Given the description of an element on the screen output the (x, y) to click on. 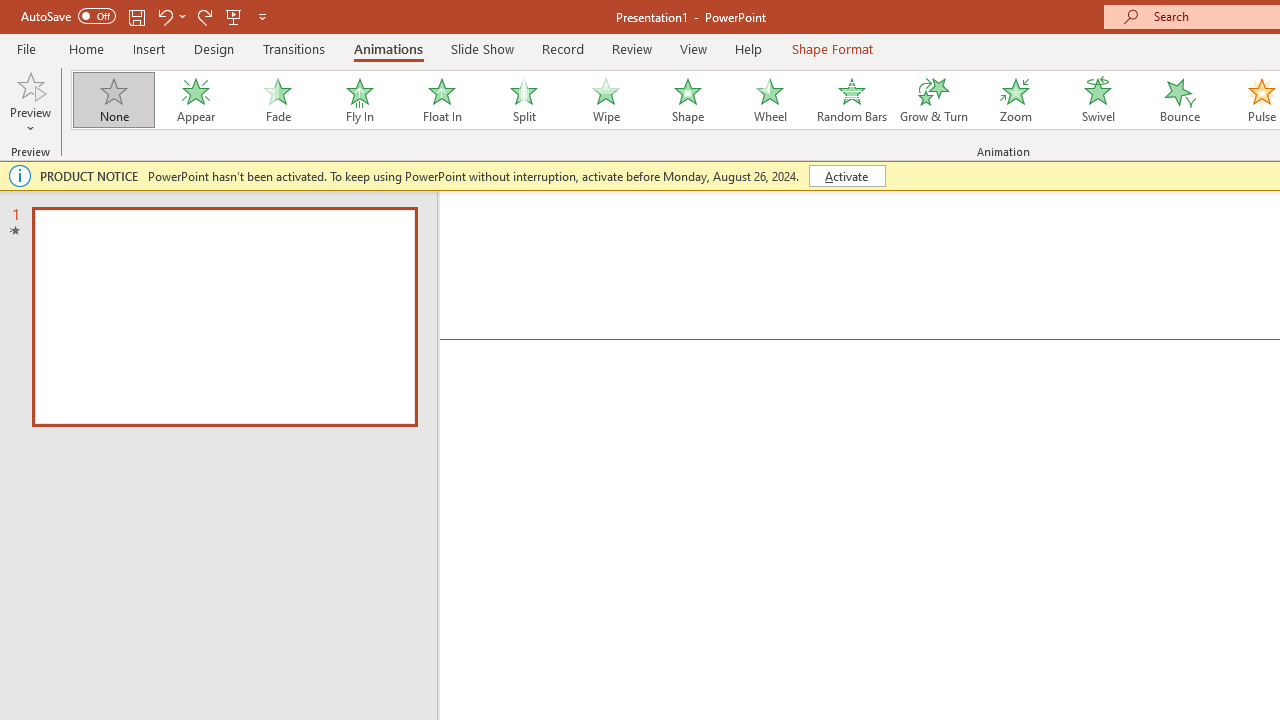
Fly In (359, 100)
Split (523, 100)
Wipe (605, 100)
Swivel (1098, 100)
Fade (277, 100)
